Given the description of an element on the screen output the (x, y) to click on. 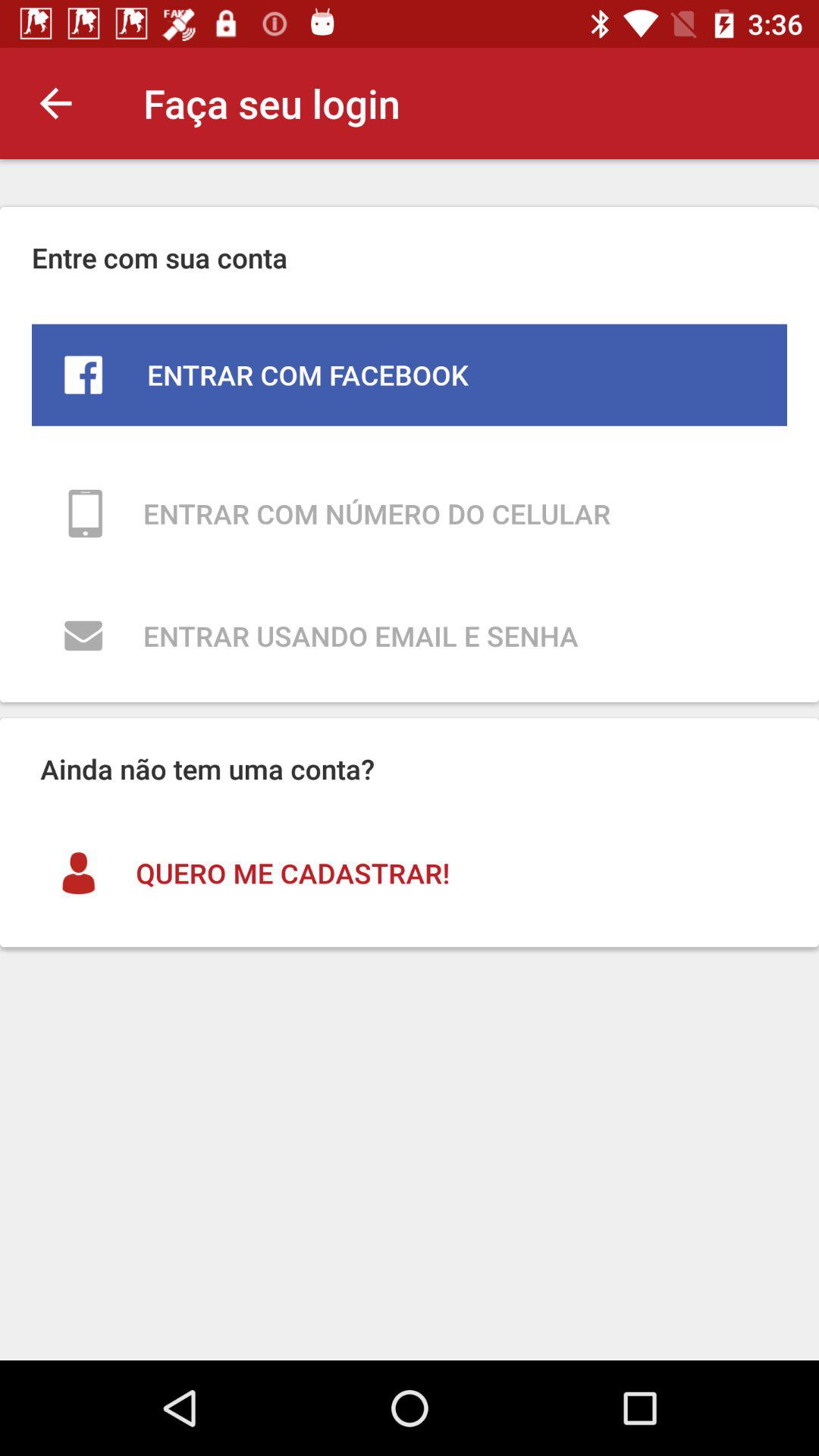
select item above entre com sua icon (55, 103)
